Given the description of an element on the screen output the (x, y) to click on. 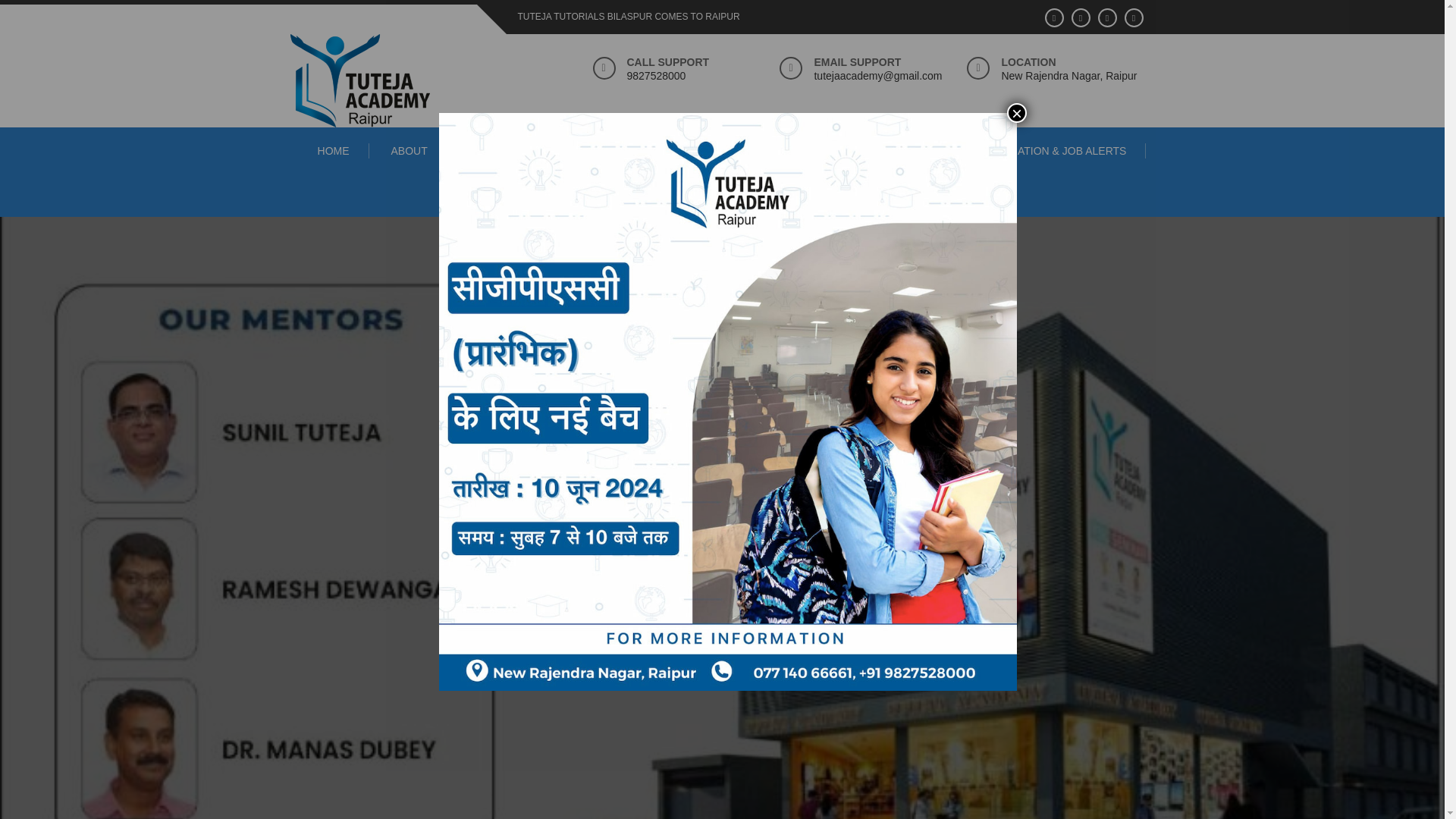
MEDIA (624, 150)
ADMISSION (721, 195)
HOME (333, 150)
ABOUT (408, 150)
OUR BRANCHES (515, 150)
LOGIN (916, 150)
DOWNLOAD (718, 150)
CONTACT US (825, 150)
